Given the description of an element on the screen output the (x, y) to click on. 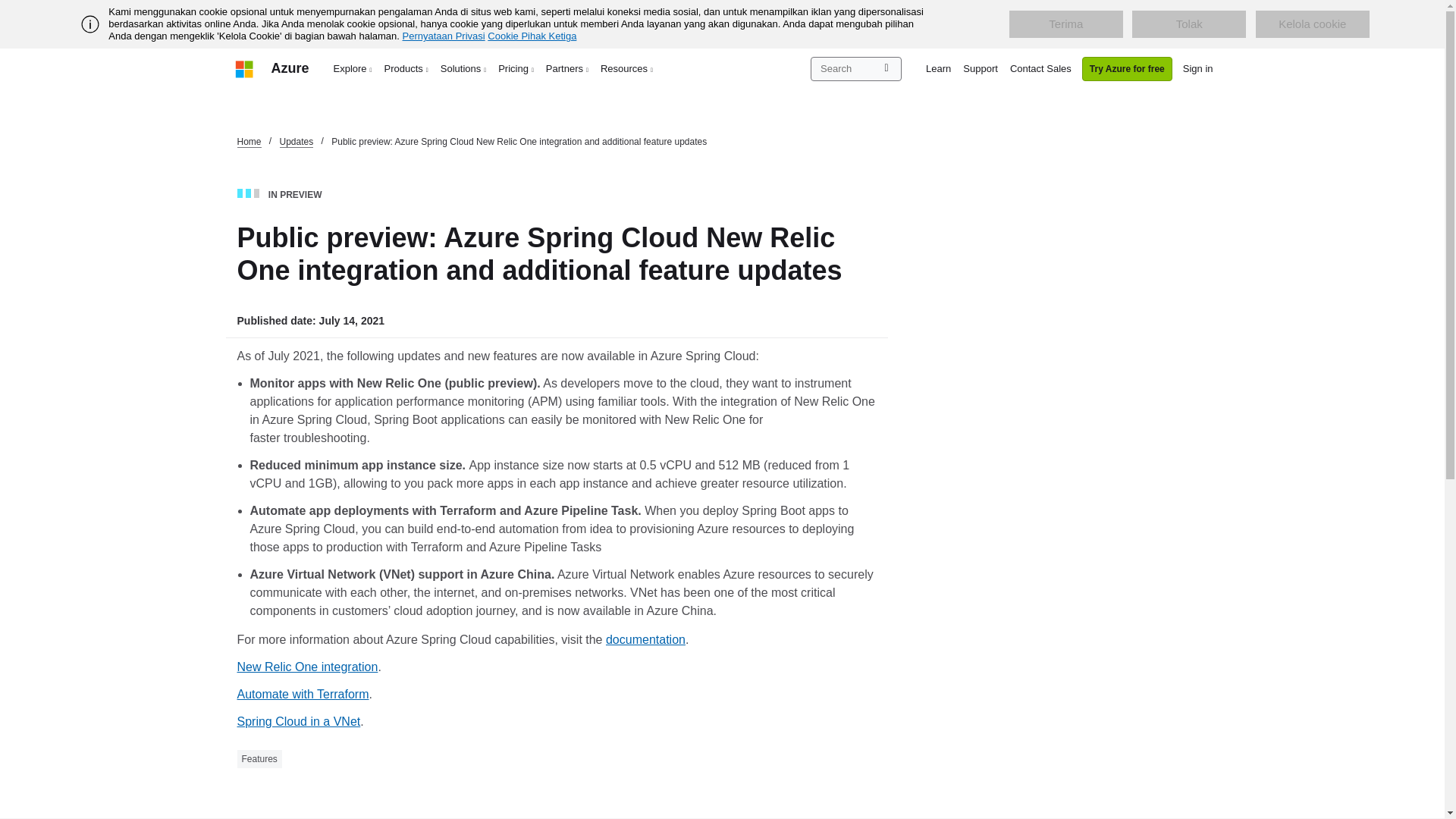
Tolak (1189, 23)
Cookie Pihak Ketiga (531, 35)
Terima (1065, 23)
Kelola cookie (1312, 23)
Skip to main content (7, 7)
Pernyataan Privasi (443, 35)
Products (405, 68)
Explore (352, 68)
Azure (289, 68)
